Given the description of an element on the screen output the (x, y) to click on. 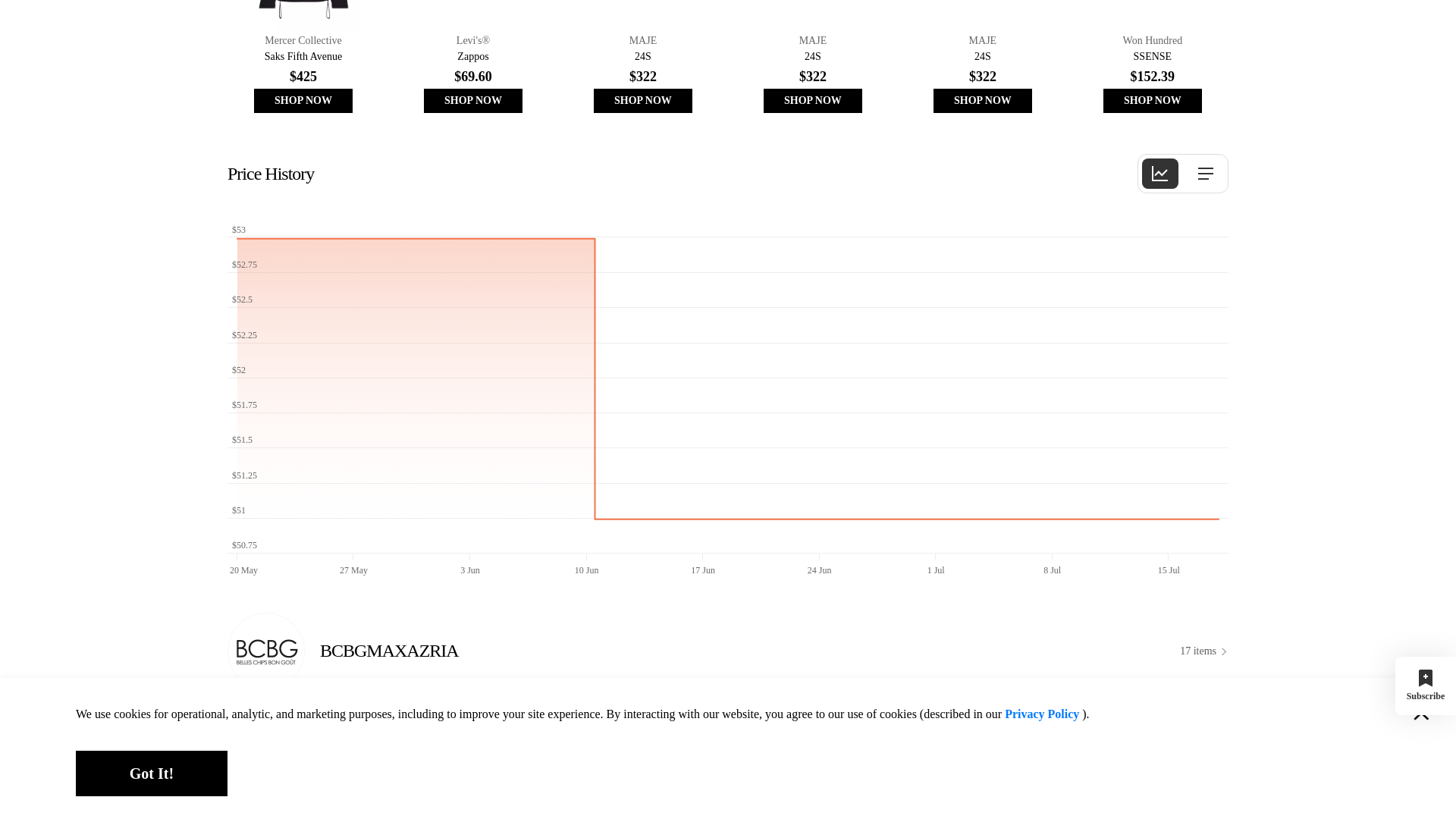
Mercer Collective Sammy Quilted Down Puffer (302, 59)
MAJE Short satiny padded jacket (812, 59)
MAJE Short satiny padded jacket (643, 59)
MAJE Short satiny padded jacket (982, 59)
Won Hundred Black Fellow Jacket (1152, 59)
